Given the description of an element on the screen output the (x, y) to click on. 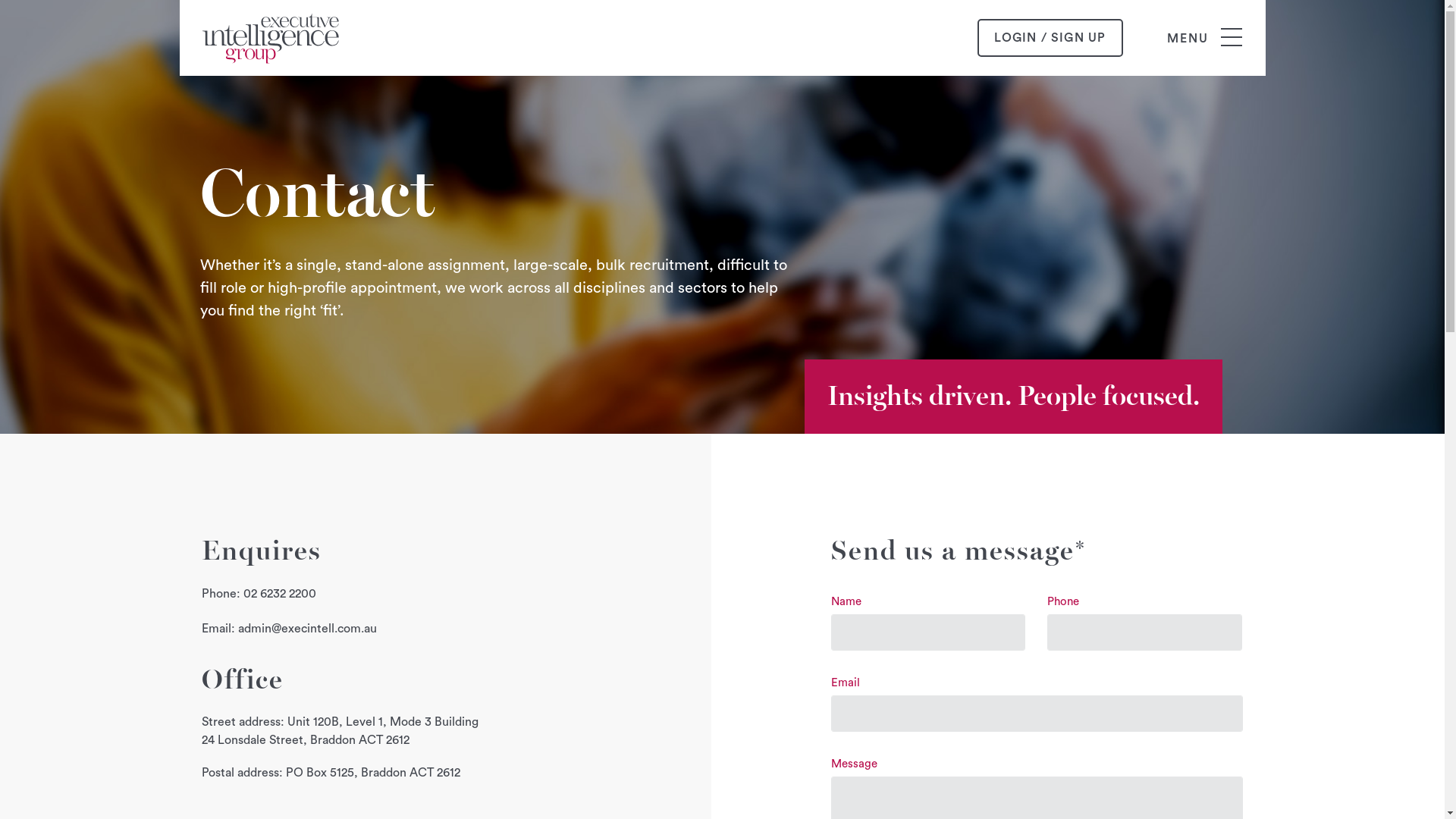
LOGIN / SIGN UP Element type: text (1049, 37)
